Given the description of an element on the screen output the (x, y) to click on. 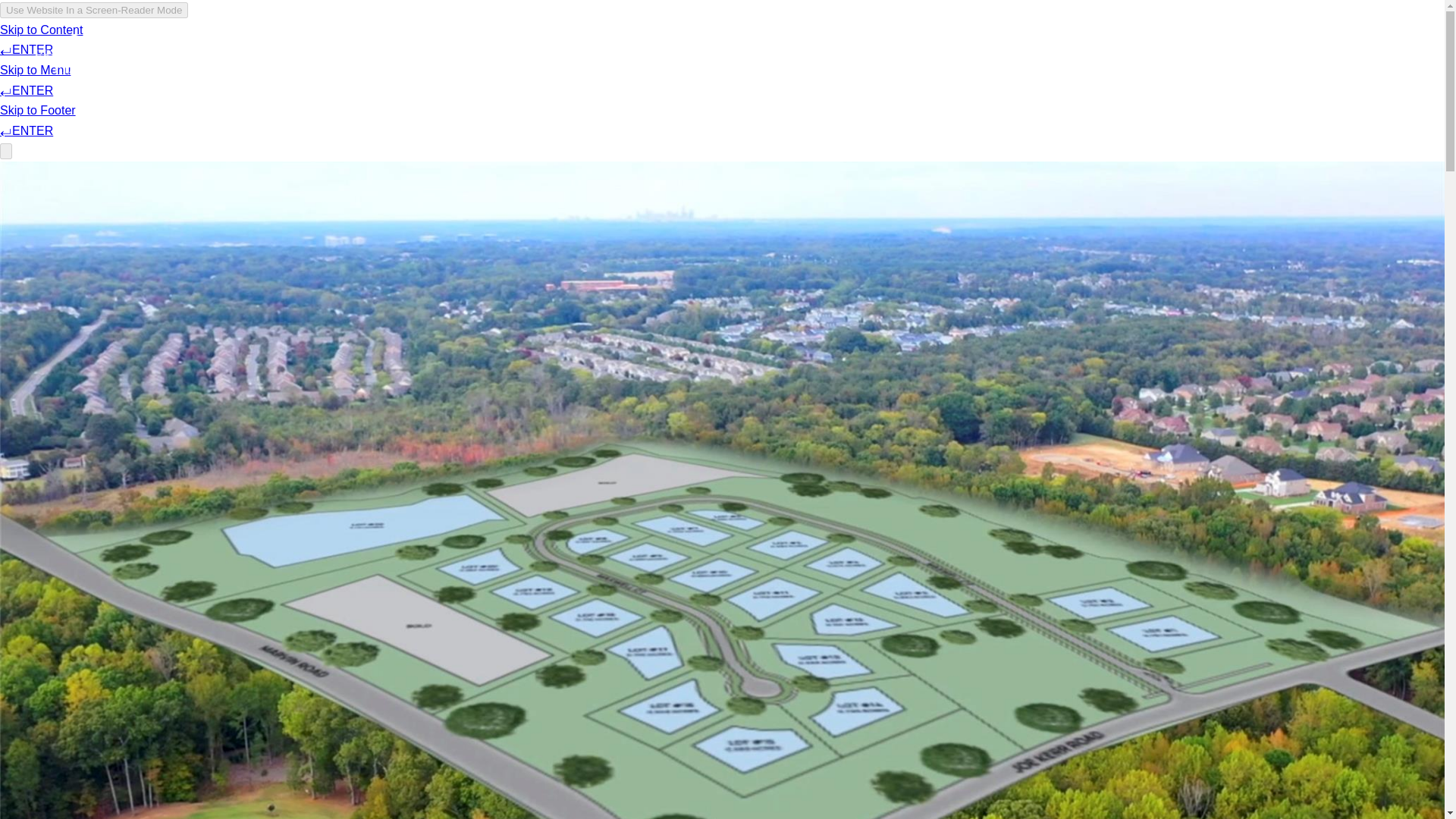
COUNTRY CLUBS (1011, 55)
DESIGN SERVICES (1133, 55)
OUR TEAM (1238, 55)
